Given the description of an element on the screen output the (x, y) to click on. 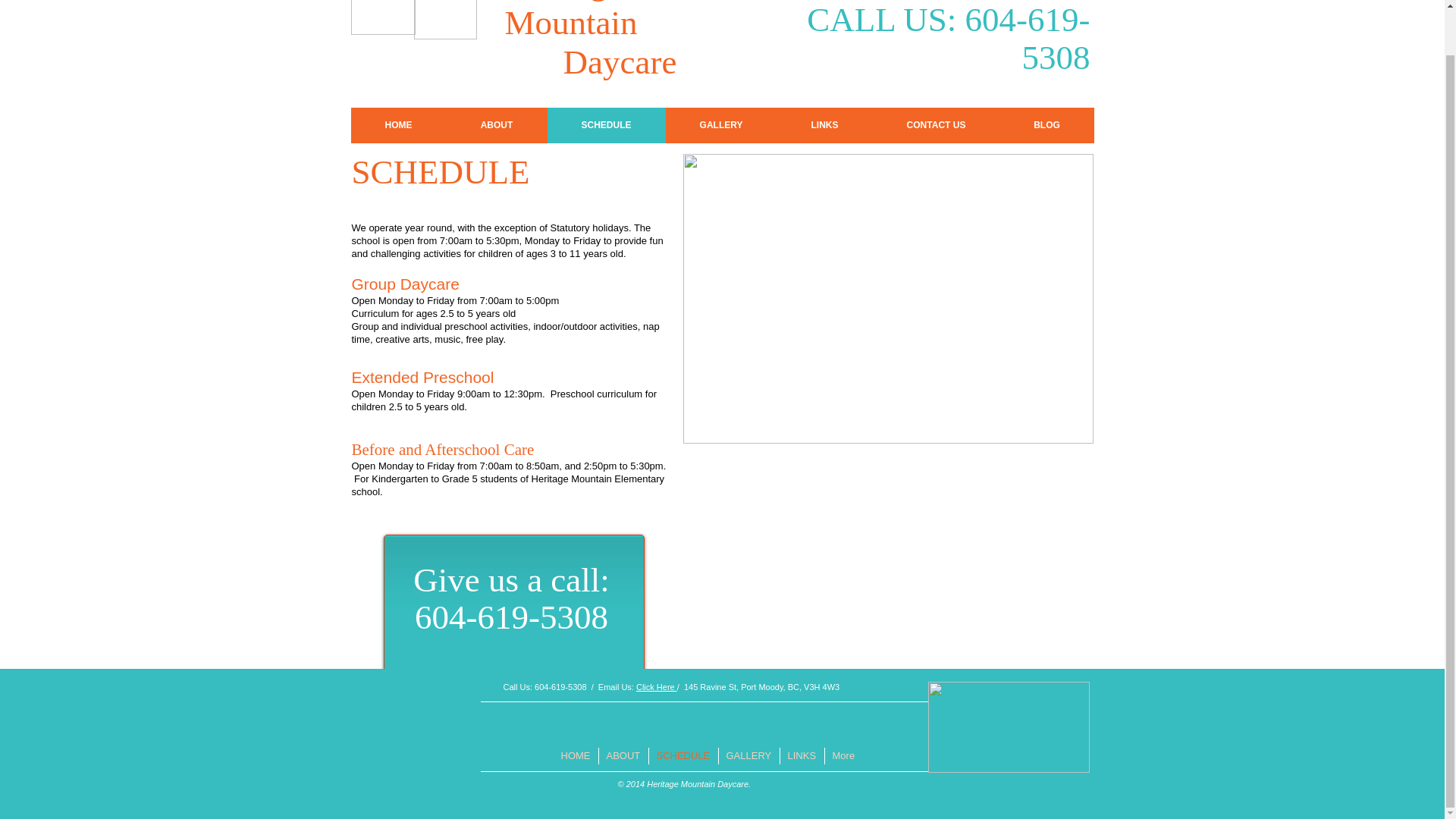
ABOUT (496, 125)
facebook-follow-us.jpg (1008, 727)
GALLERY (721, 125)
ABOUT (621, 755)
BLOG (1045, 125)
CONTACT US (935, 125)
GALLERY (747, 755)
LINKS (824, 125)
SCHEDULE (682, 755)
HOME (397, 125)
